Given the description of an element on the screen output the (x, y) to click on. 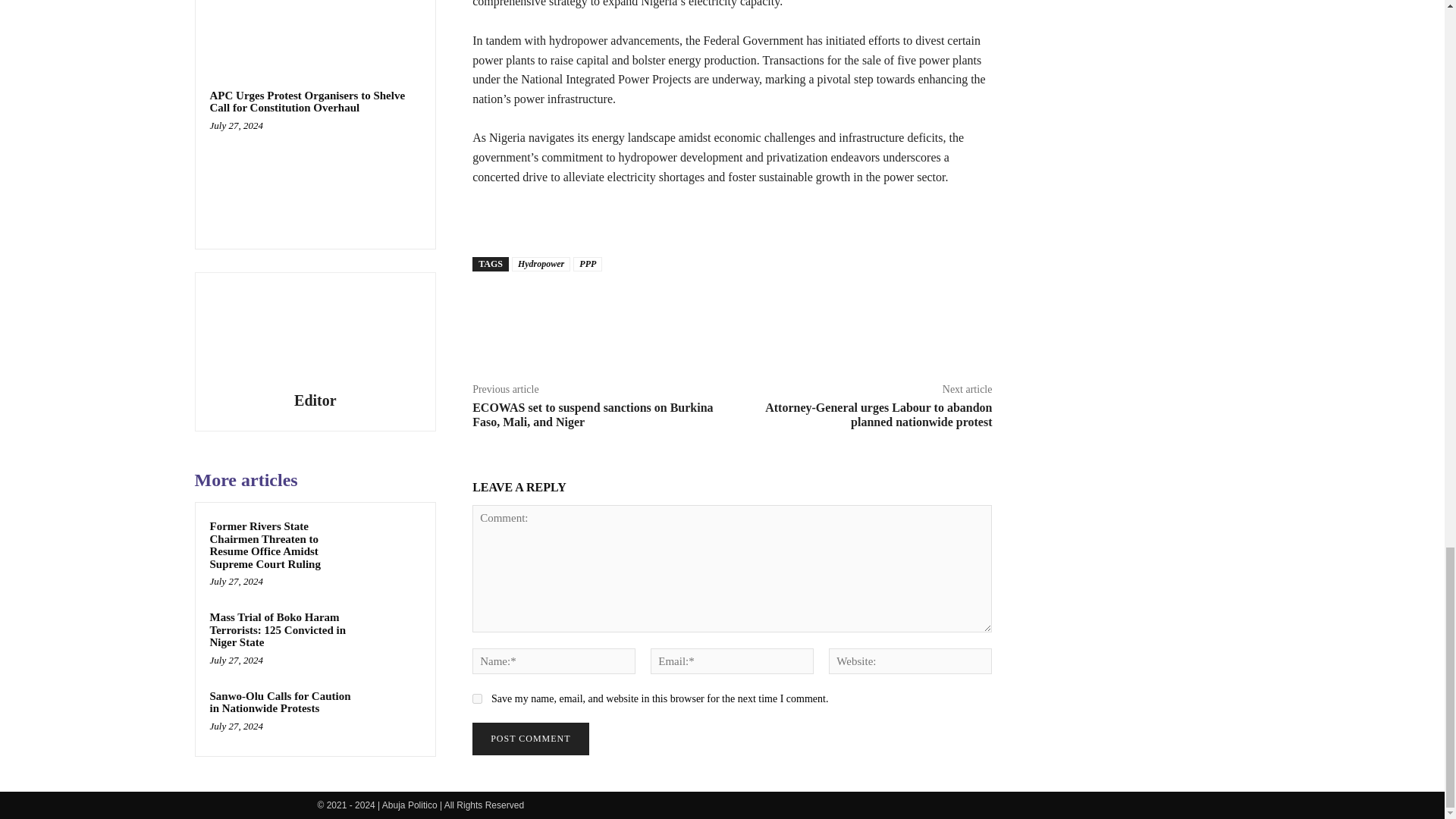
yes (476, 698)
Post Comment (529, 738)
